Given the description of an element on the screen output the (x, y) to click on. 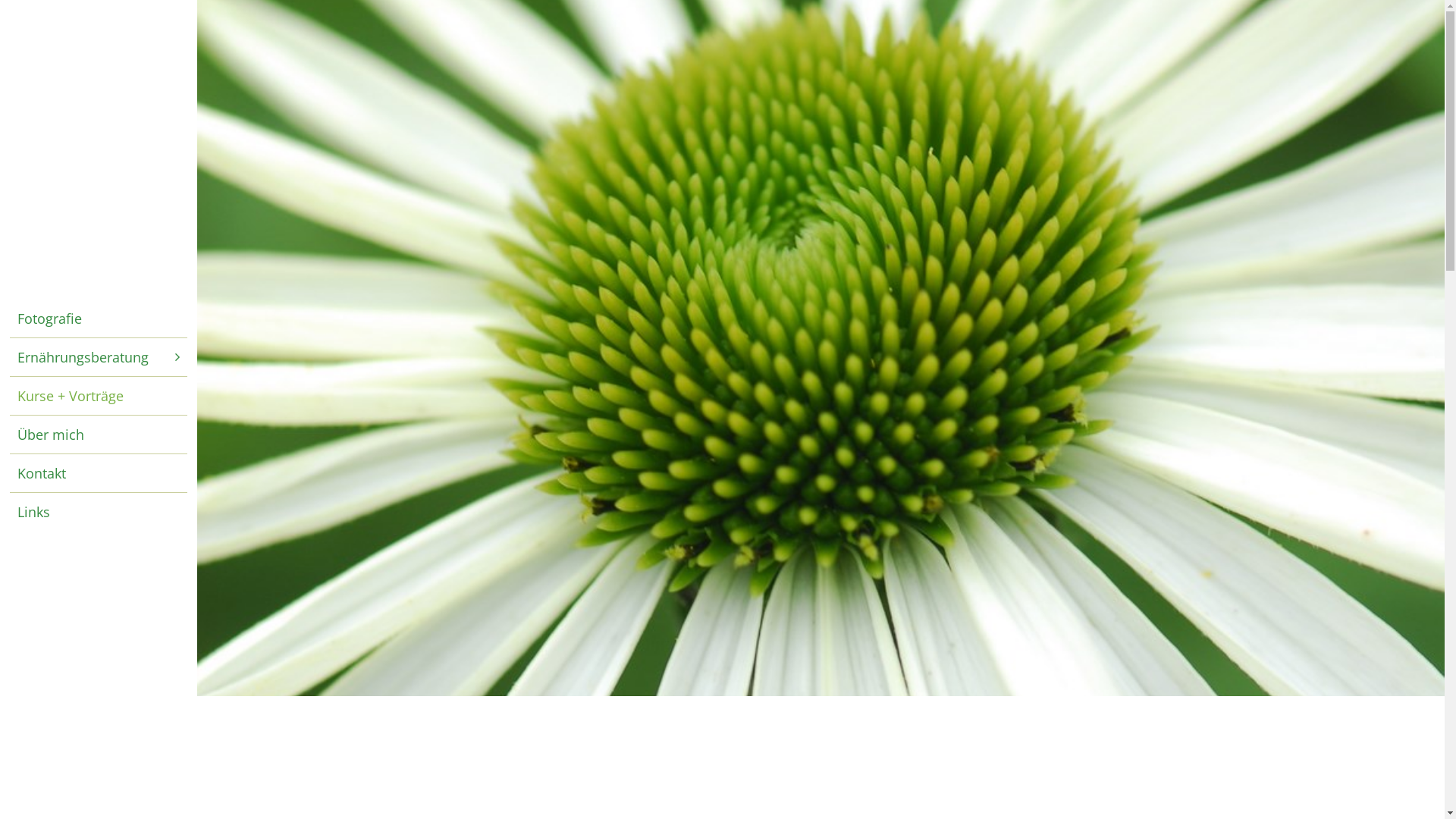
Kontakt Element type: text (98, 472)
Fotografie Element type: text (98, 317)
Links Element type: text (98, 511)
